Given the description of an element on the screen output the (x, y) to click on. 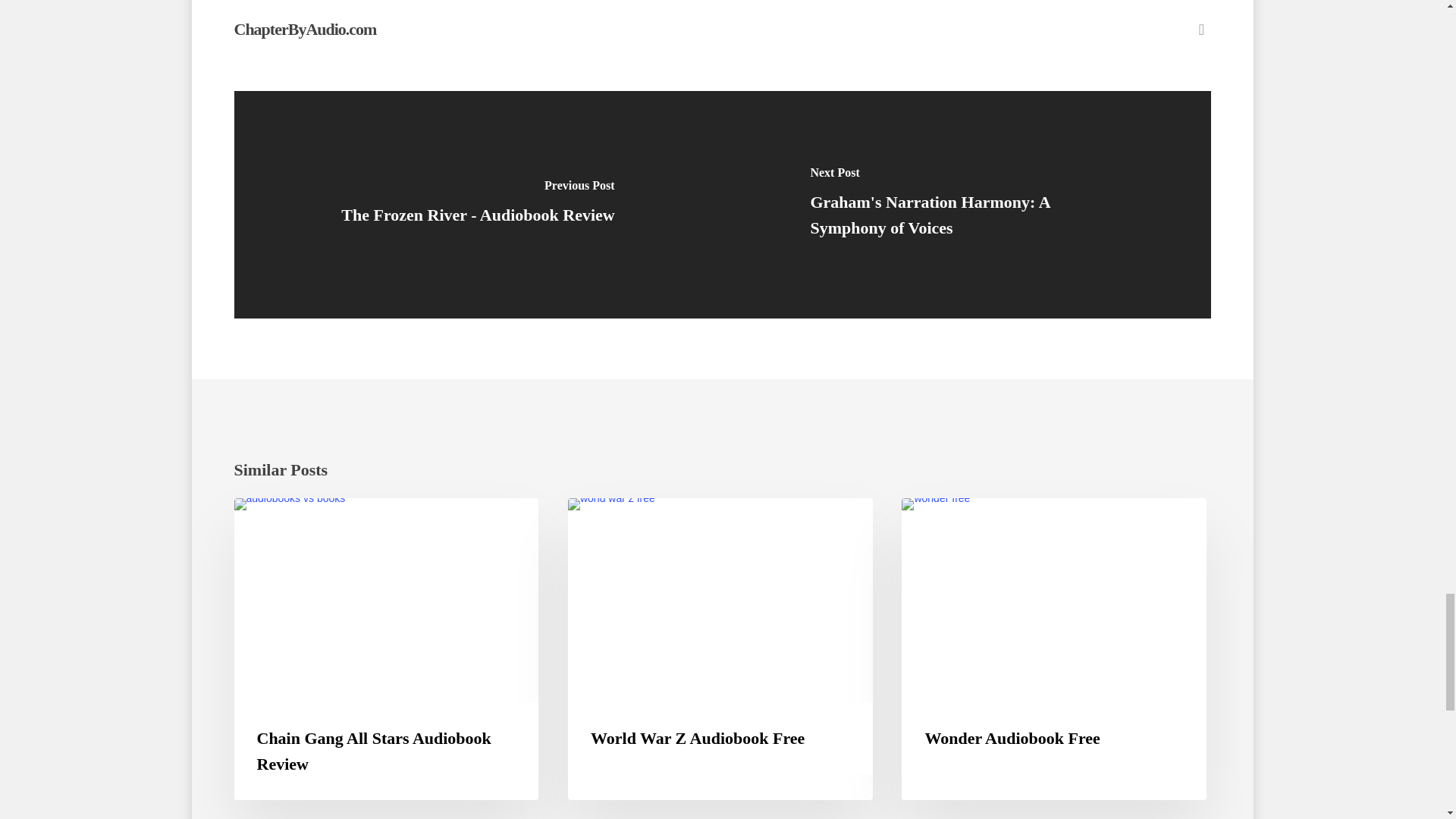
UNCATEGORIZED (297, 522)
UNCATEGORIZED (965, 522)
UNCATEGORIZED (631, 522)
